Given the description of an element on the screen output the (x, y) to click on. 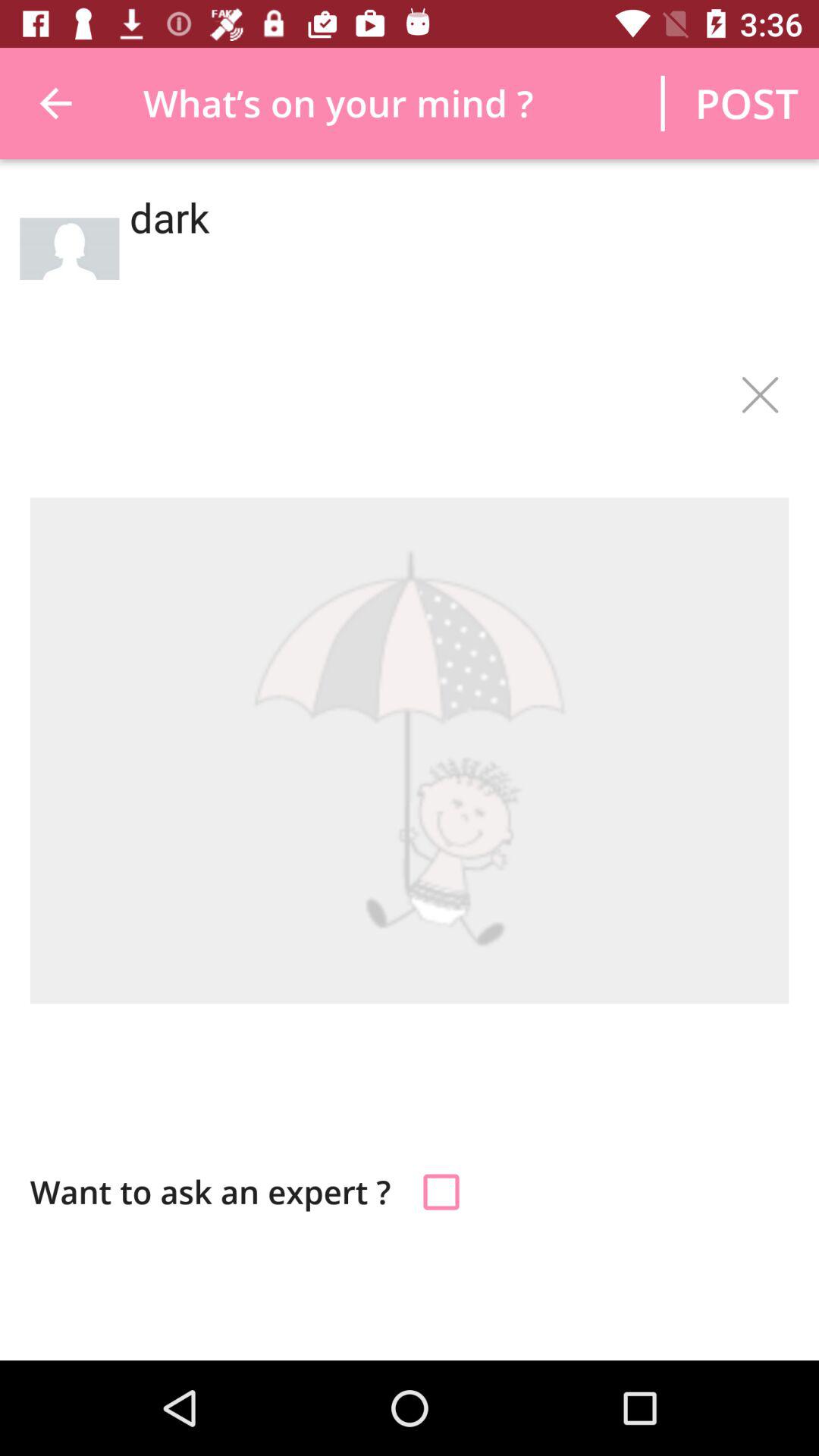
open icon next to the what s on (55, 103)
